Given the description of an element on the screen output the (x, y) to click on. 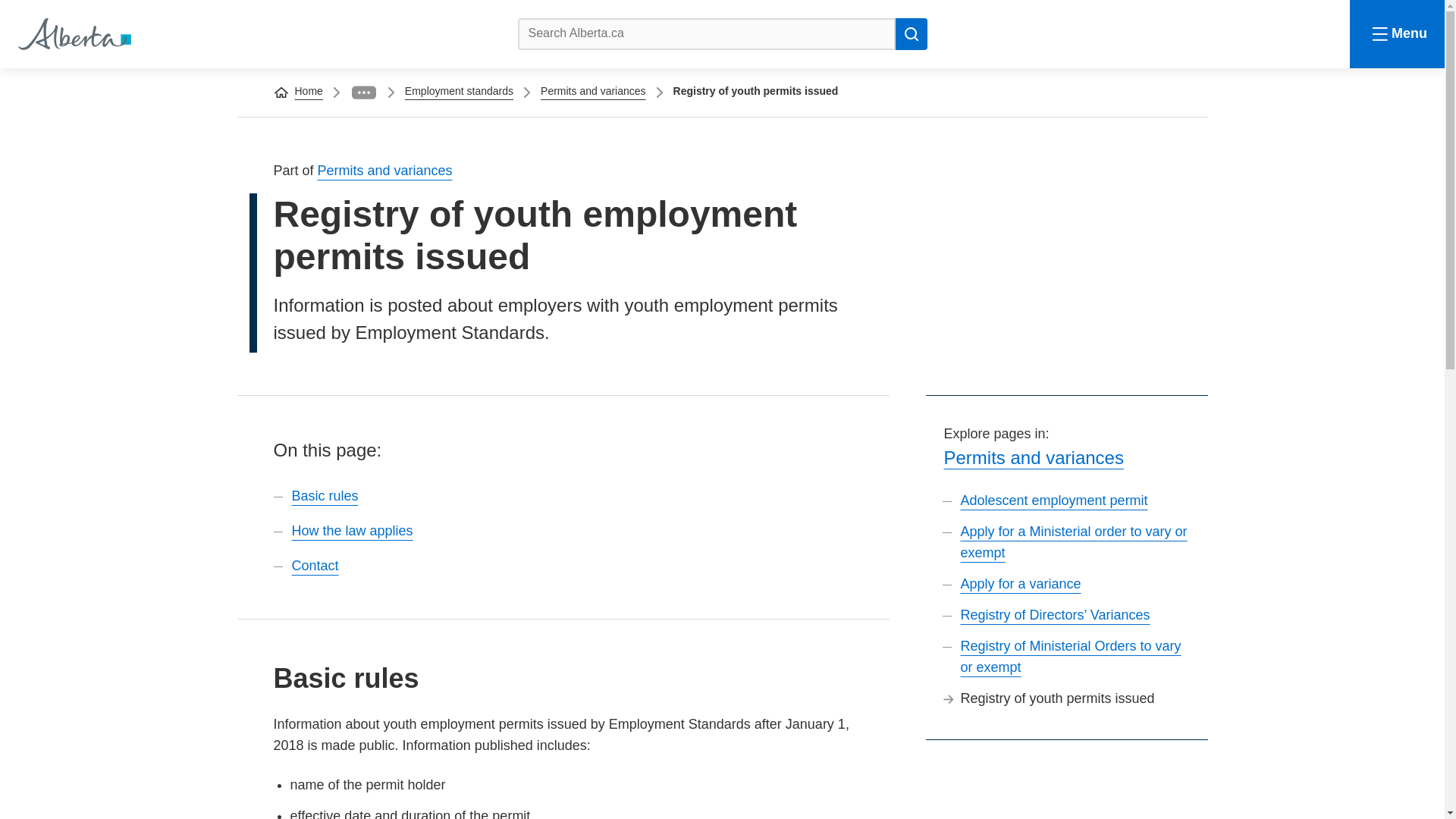
Permits and variances (593, 91)
Employment standards (458, 91)
Home (73, 33)
Permits and variances (384, 170)
Home (307, 91)
Alberta.ca (73, 33)
Adolescent employment permit (1053, 500)
Apply for a Ministerial order to vary or exempt (1072, 542)
Permits and variances (1032, 457)
